Given the description of an element on the screen output the (x, y) to click on. 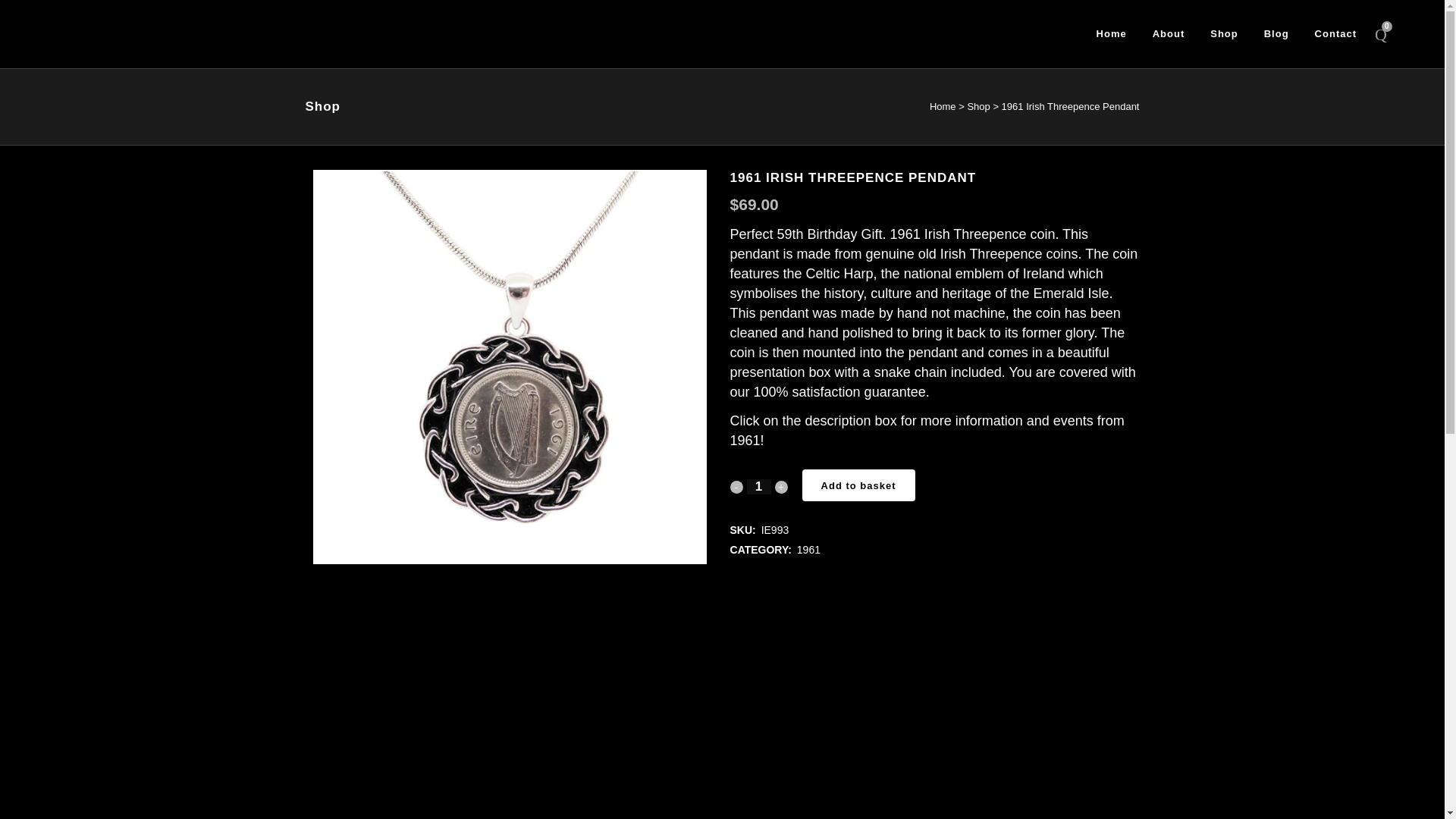
1 (758, 486)
- (736, 486)
Contact (1335, 33)
1961 (808, 549)
Shop (978, 106)
Qty (758, 486)
Home (943, 106)
Add to basket (858, 485)
